Given the description of an element on the screen output the (x, y) to click on. 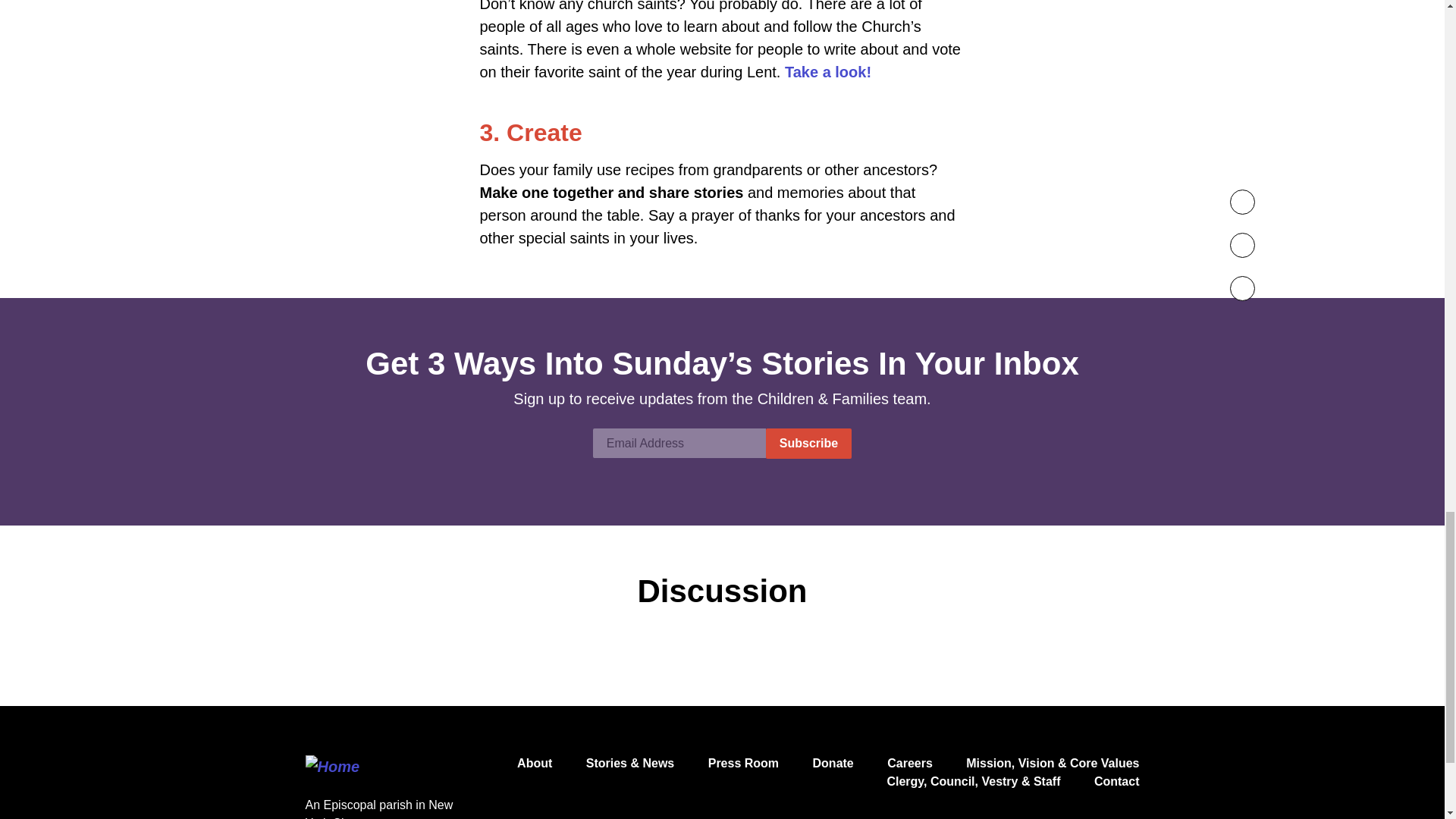
Careers (909, 762)
About (533, 762)
Press Room (742, 762)
Take a look (827, 71)
About (533, 762)
Directory (972, 780)
Press Room (742, 762)
Donate (832, 762)
Take a look! (827, 71)
Subscribe (808, 442)
